Given the description of an element on the screen output the (x, y) to click on. 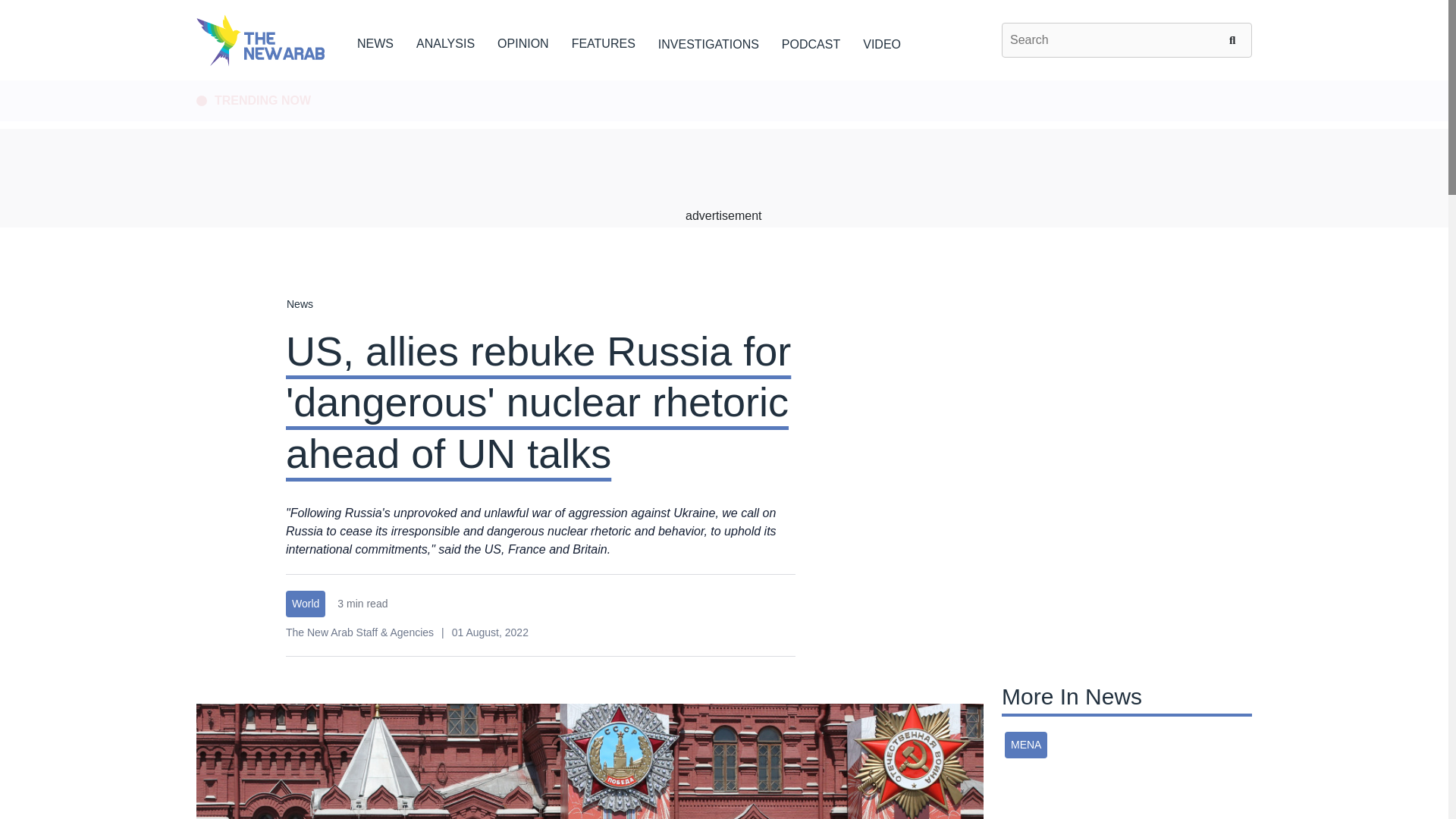
OPINION (523, 41)
NEWS (375, 41)
ANALYSIS (445, 41)
Skip to main content (724, 81)
Search (1234, 39)
